Given the description of an element on the screen output the (x, y) to click on. 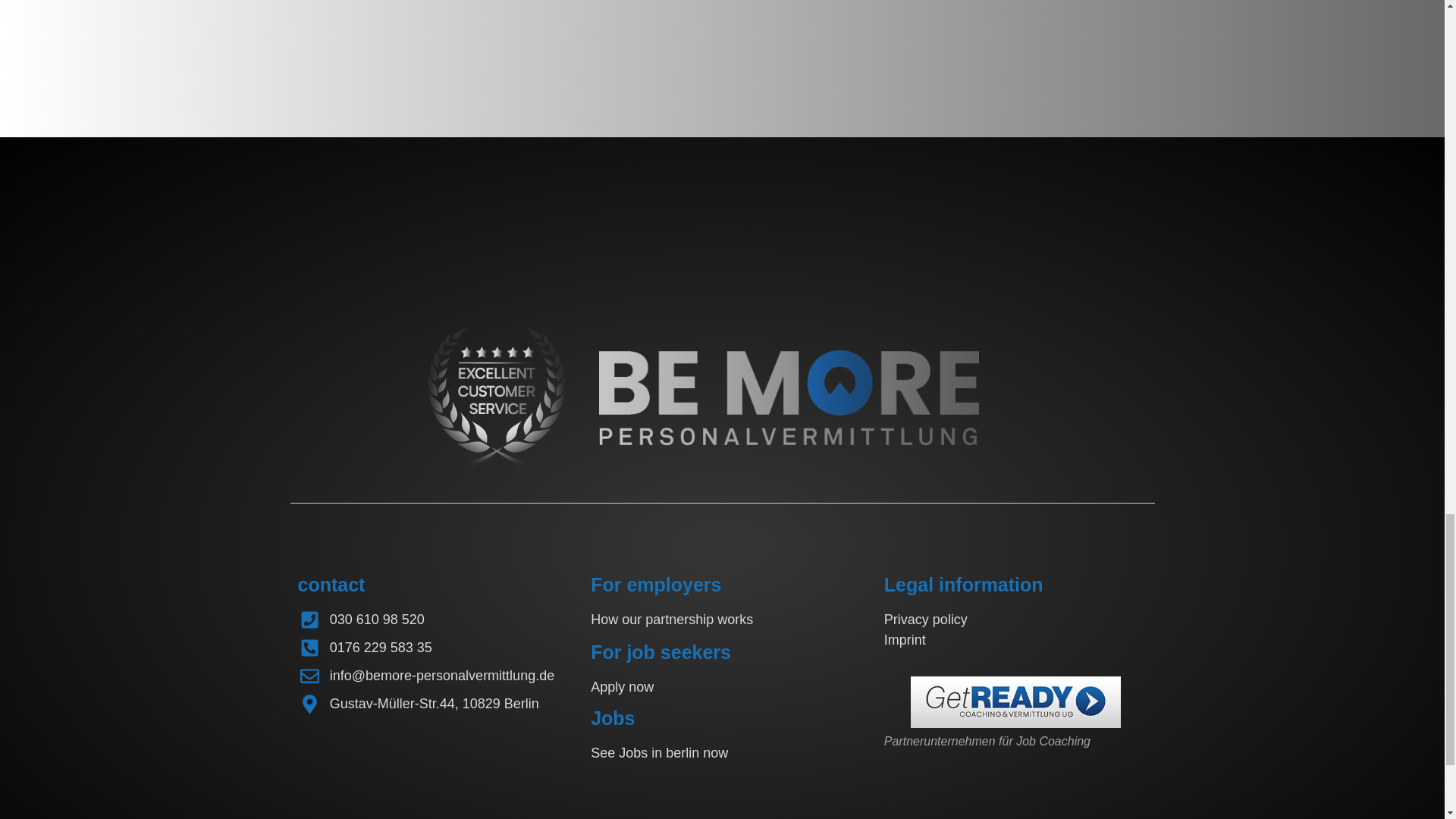
How our partnership works (671, 619)
030 610 98 520 (377, 619)
Apply now (622, 686)
Privacy policy (925, 619)
See Jobs in berlin now (659, 752)
Imprint (904, 639)
0176 229 583 35 (381, 648)
